Given the description of an element on the screen output the (x, y) to click on. 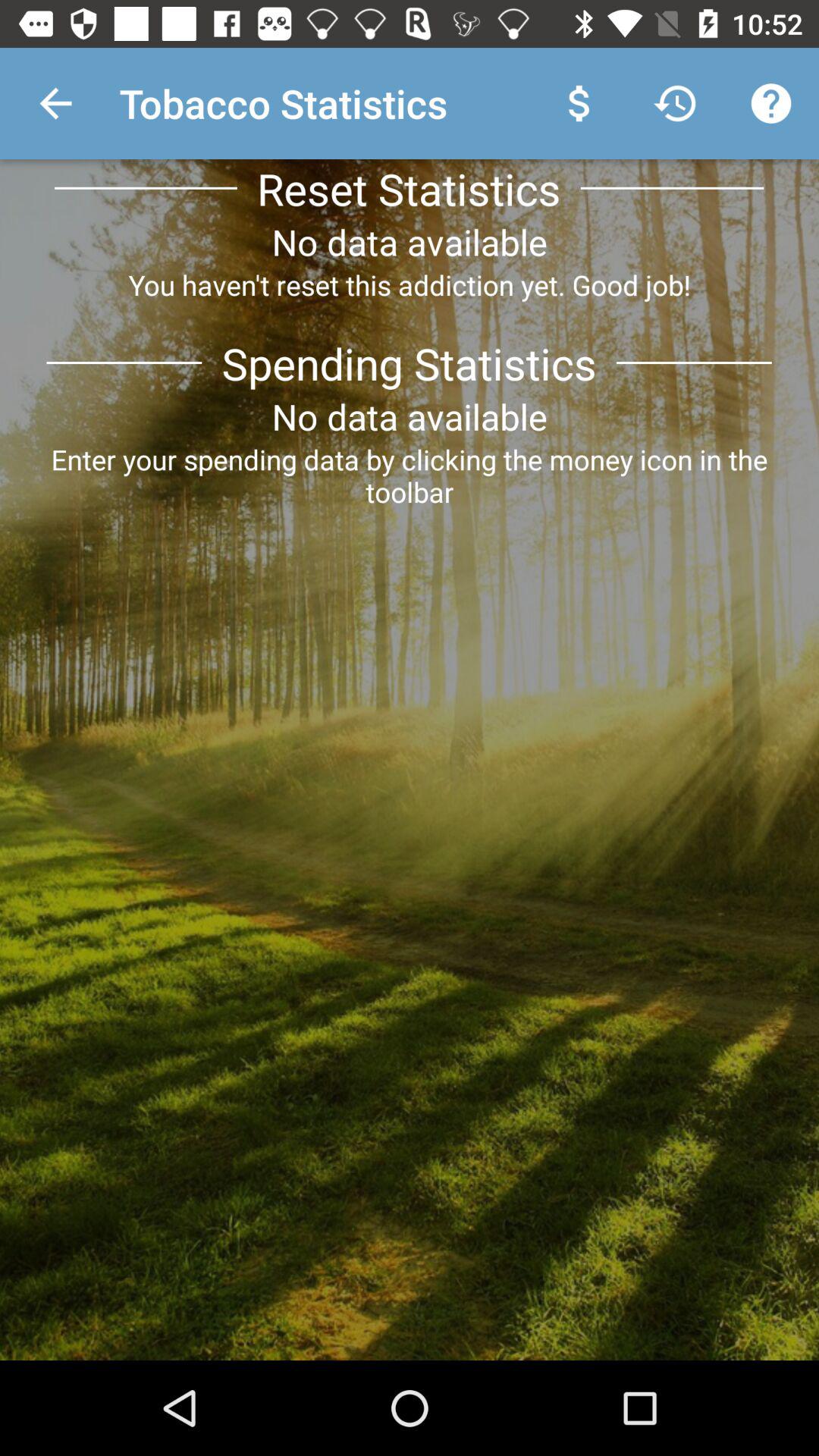
choose app to the left of the tobacco statistics (55, 103)
